Given the description of an element on the screen output the (x, y) to click on. 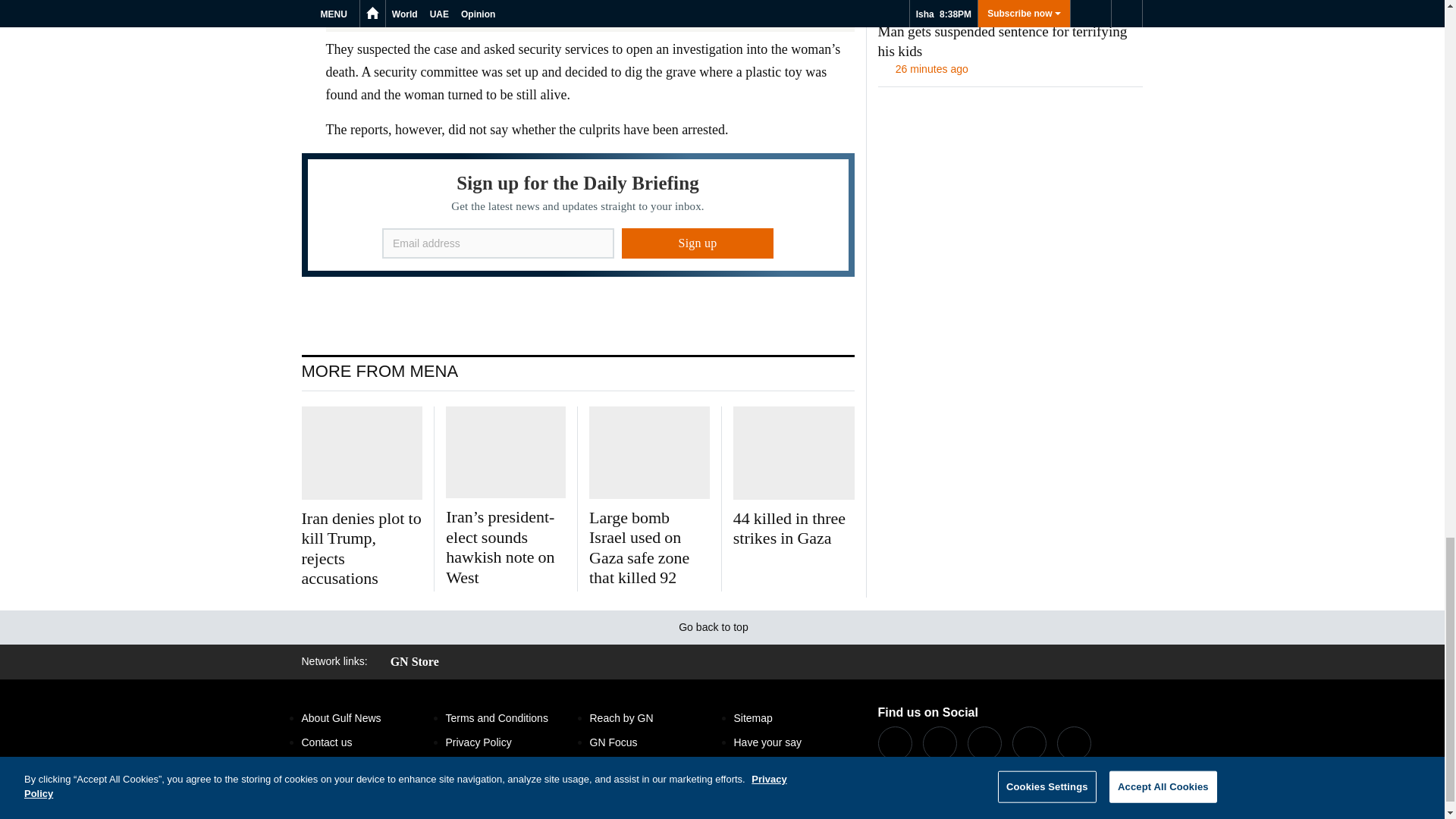
Sign up for the Daily Briefing (577, 214)
